Given the description of an element on the screen output the (x, y) to click on. 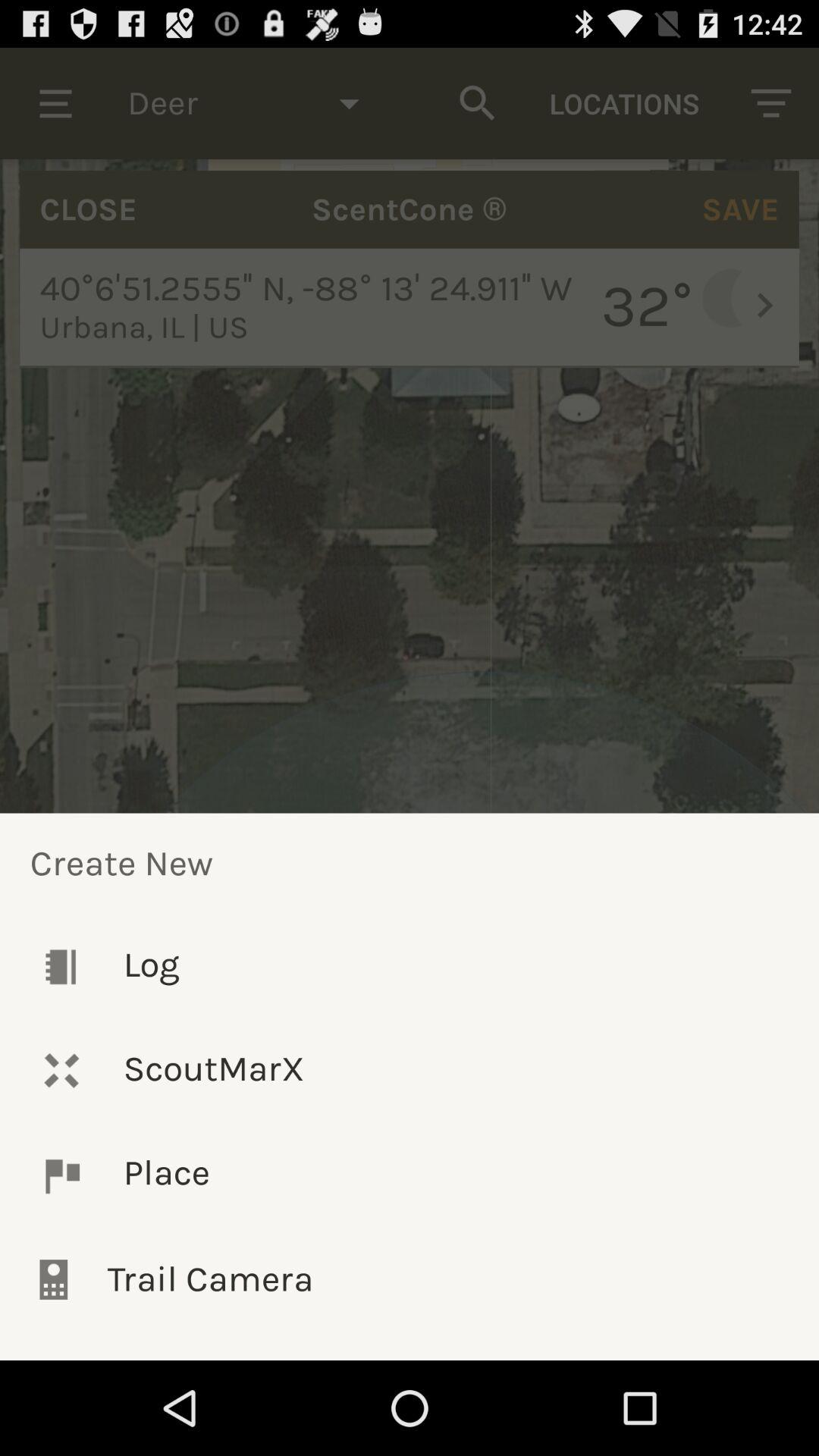
turn on the icon below the scoutmarx icon (409, 1175)
